Given the description of an element on the screen output the (x, y) to click on. 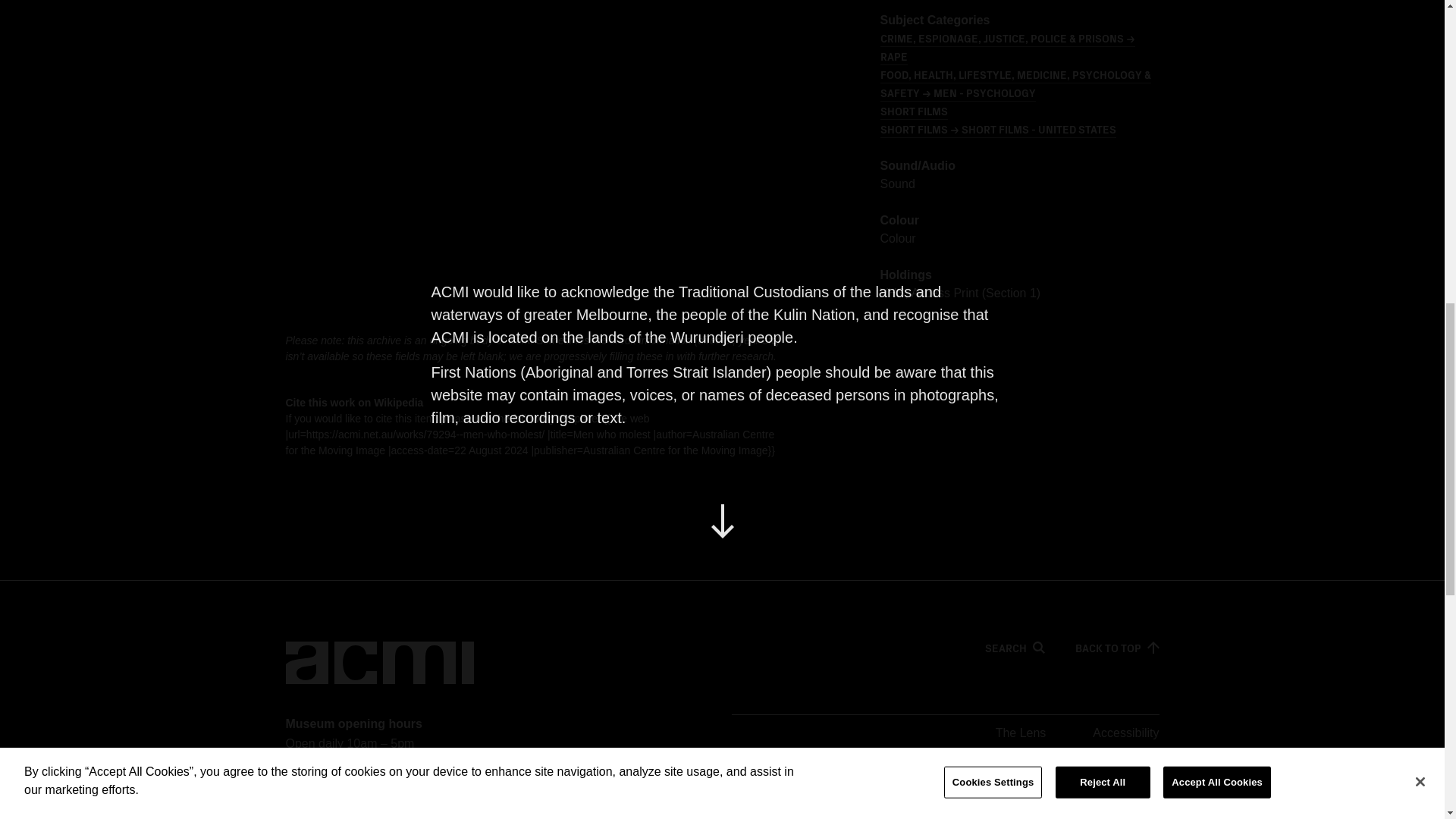
View Creative Victoria website (954, 797)
Follow ACMI on X (1055, 797)
Follow ACMI on Instagram (1146, 797)
Follow ACMI on Facebook (1085, 797)
Subscribe to ACMI's YouTube channel (1115, 797)
